Given the description of an element on the screen output the (x, y) to click on. 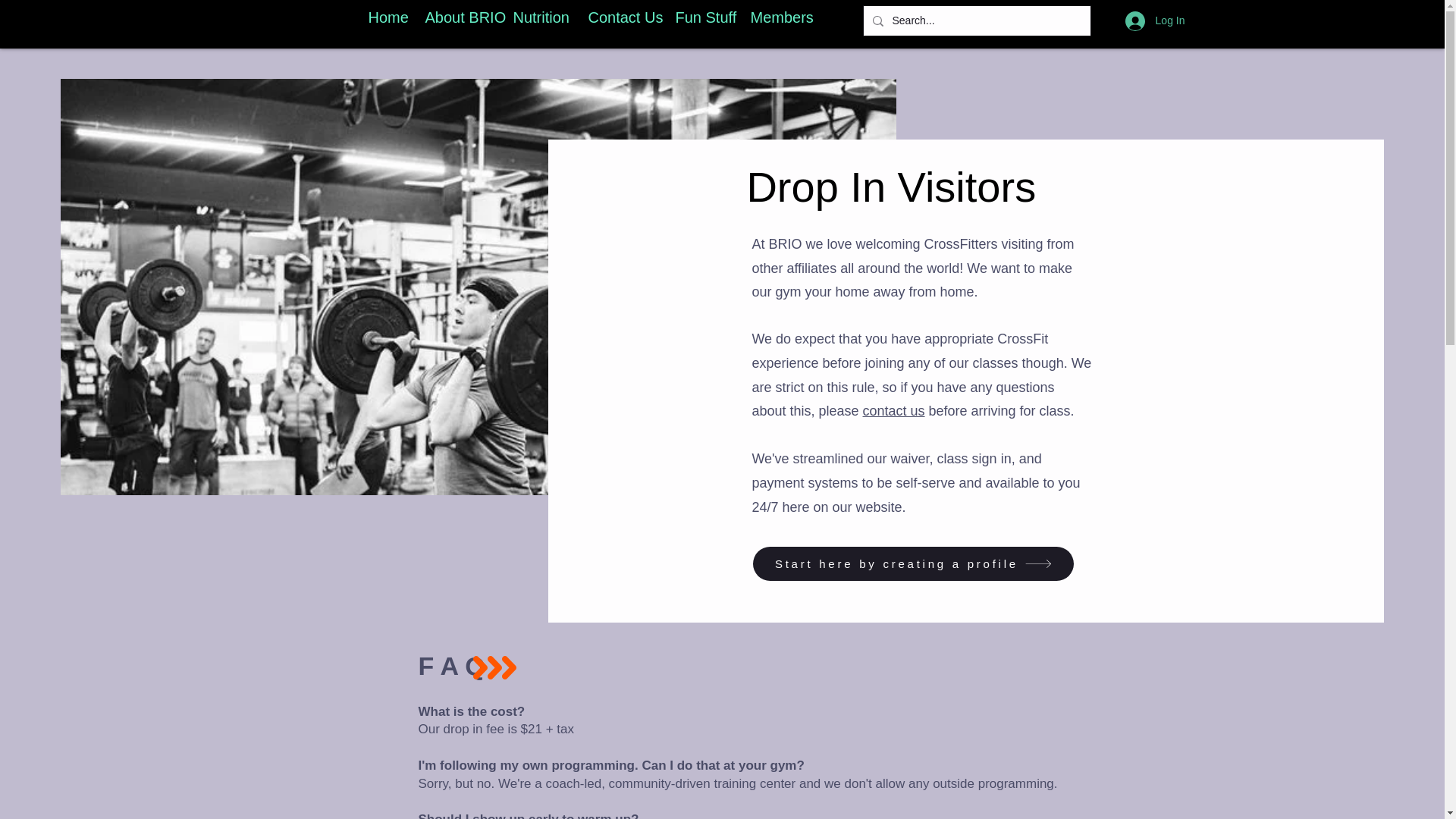
contact us (893, 410)
Contact Us (619, 17)
Start here by creating a profile (913, 563)
Home (384, 17)
Nutrition (539, 17)
Log In (1155, 20)
